Given the description of an element on the screen output the (x, y) to click on. 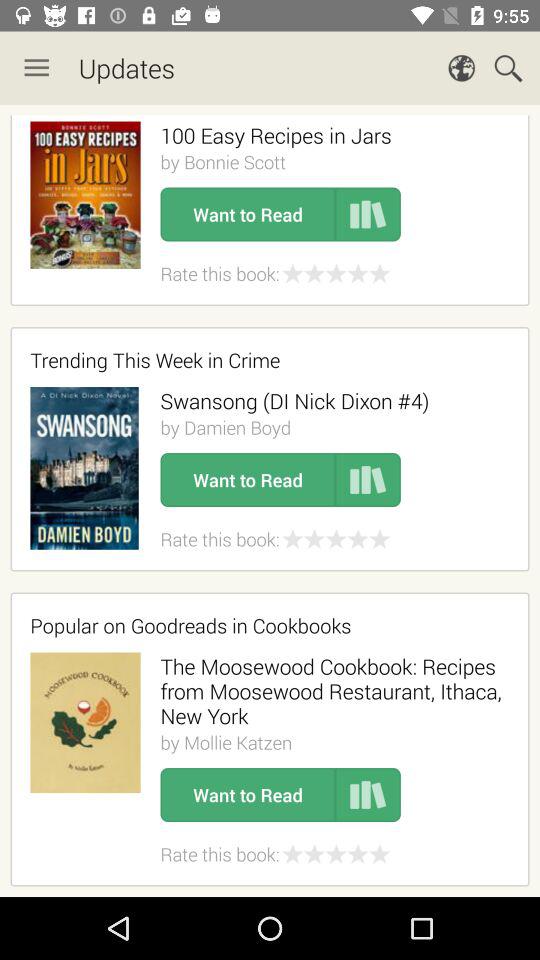
go to book (367, 479)
